Given the description of an element on the screen output the (x, y) to click on. 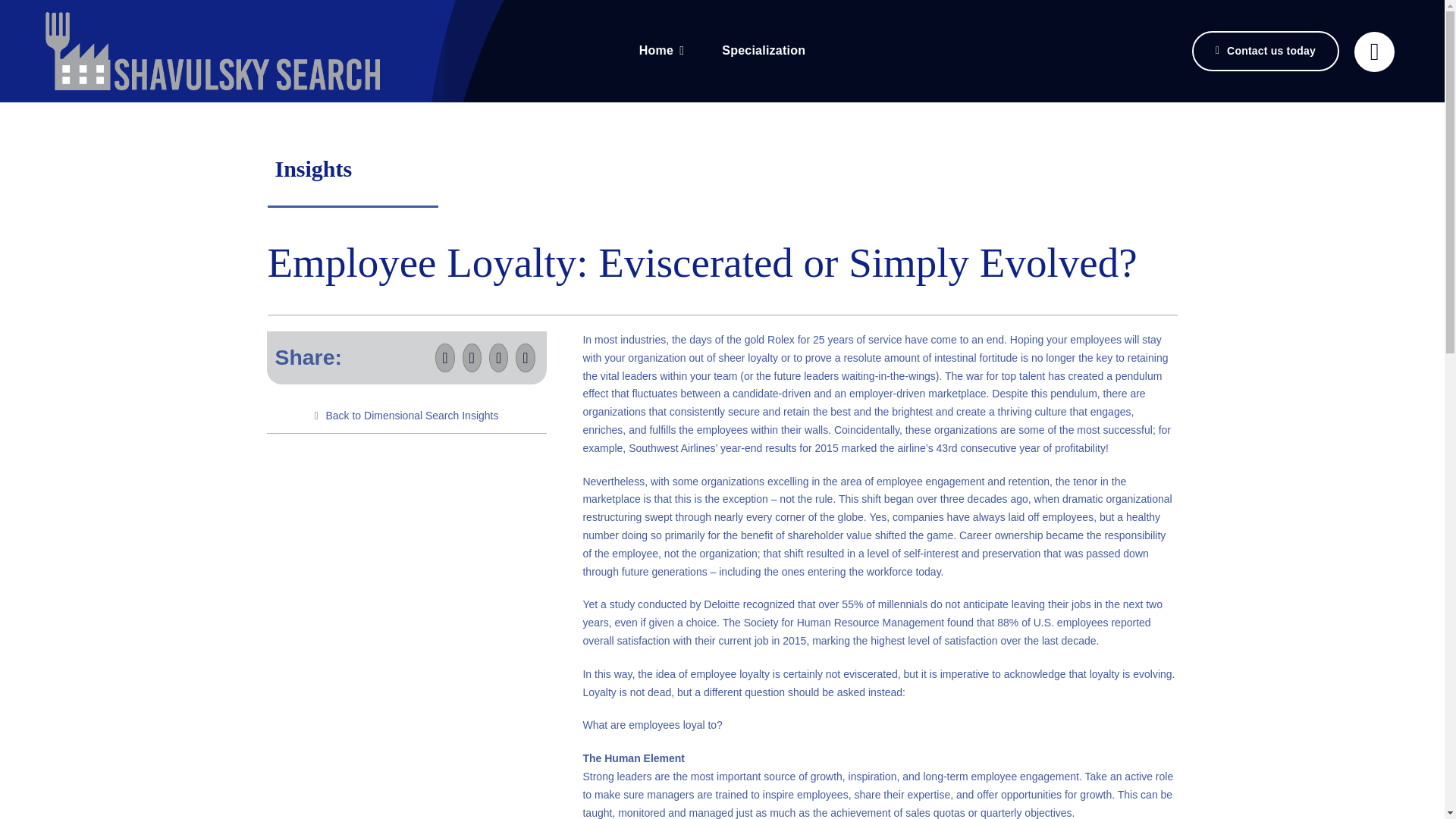
Home (661, 51)
Back to Dimensional Search Insights (405, 416)
Specialization (763, 51)
Contact us today (1265, 51)
